Given the description of an element on the screen output the (x, y) to click on. 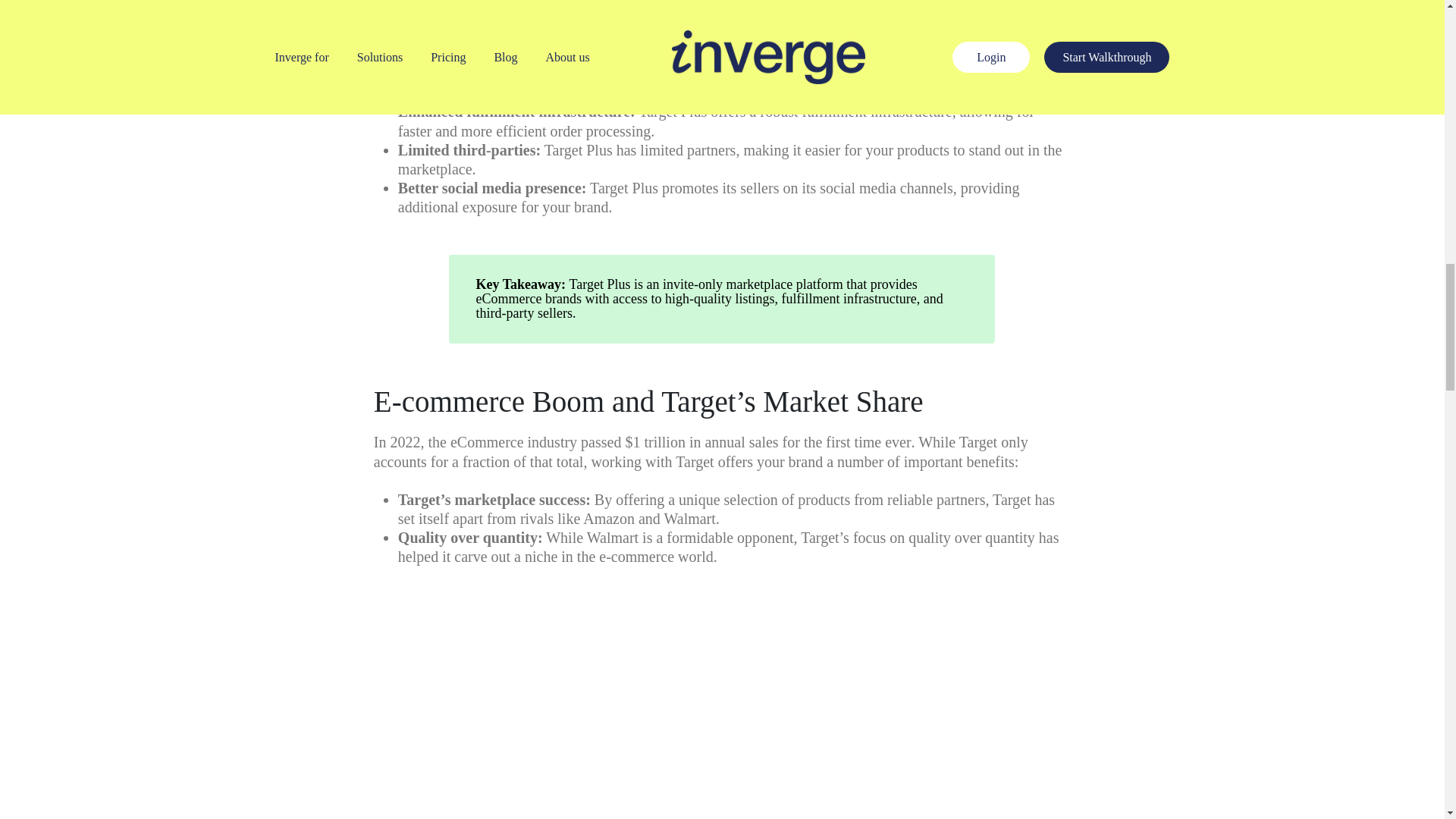
ECommerce (508, 298)
